Given the description of an element on the screen output the (x, y) to click on. 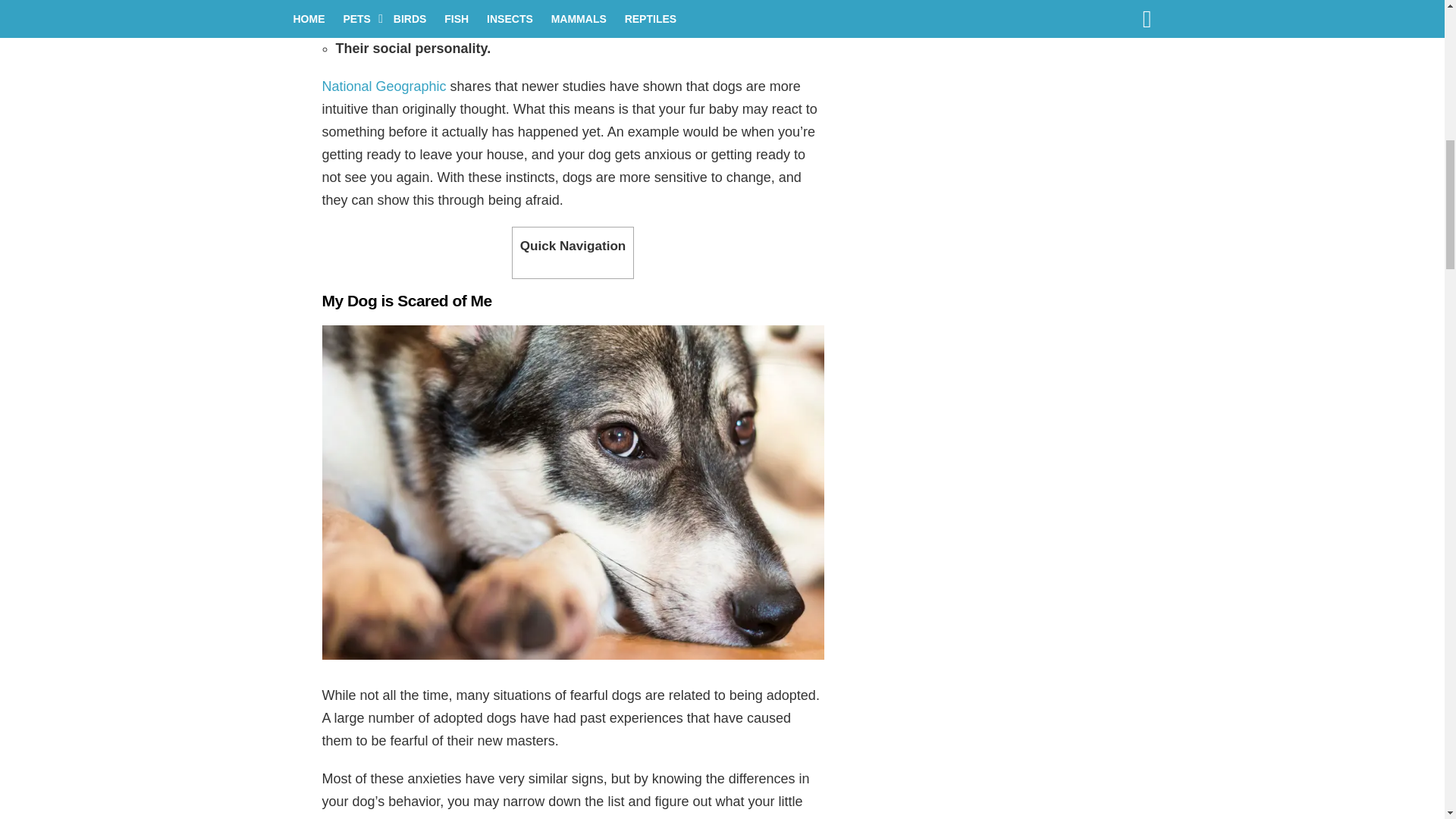
National Geographic (383, 86)
